Given the description of an element on the screen output the (x, y) to click on. 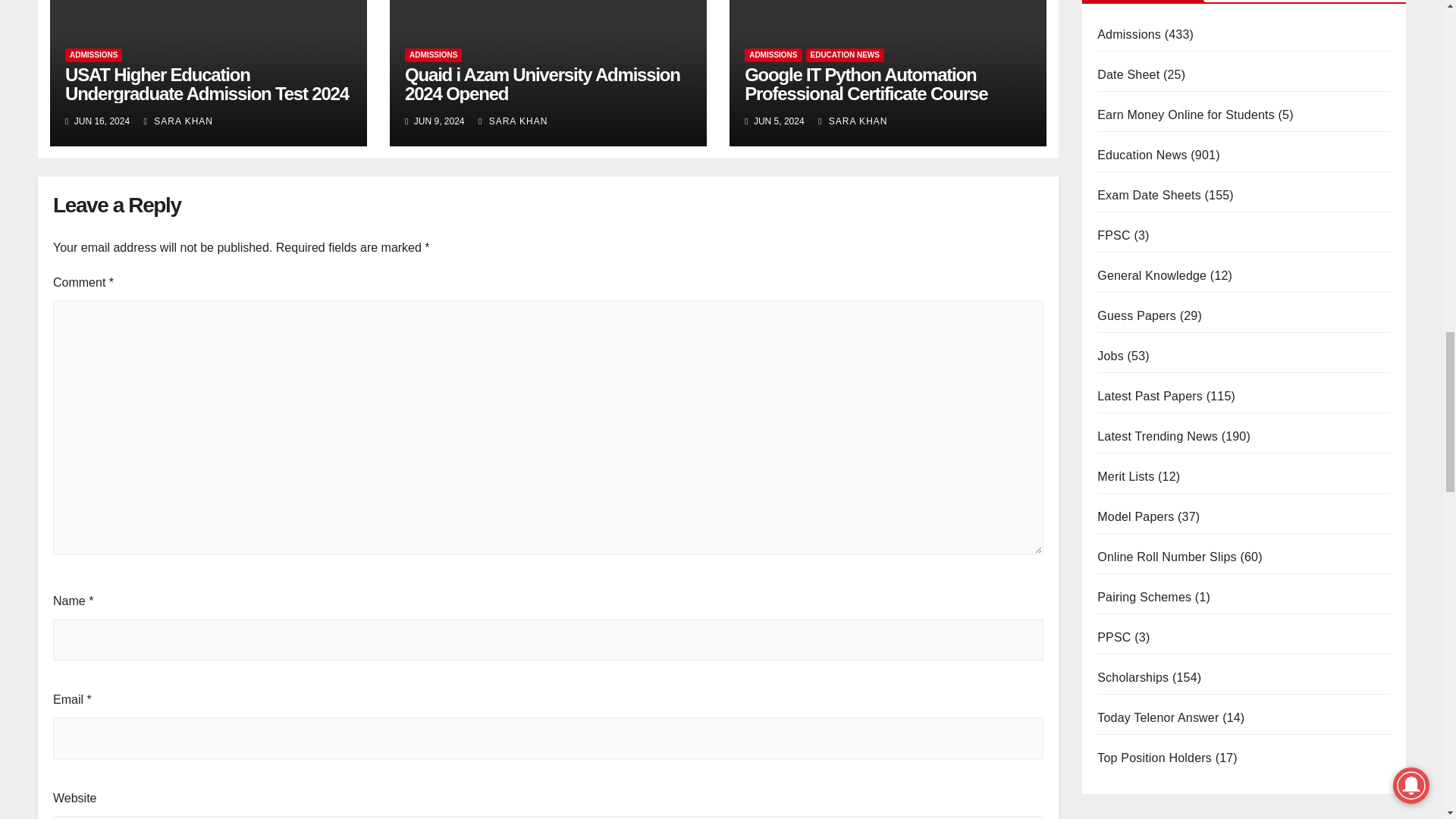
Permalink to: Quaid i Azam University Admission 2024 Opened (541, 84)
